Given the description of an element on the screen output the (x, y) to click on. 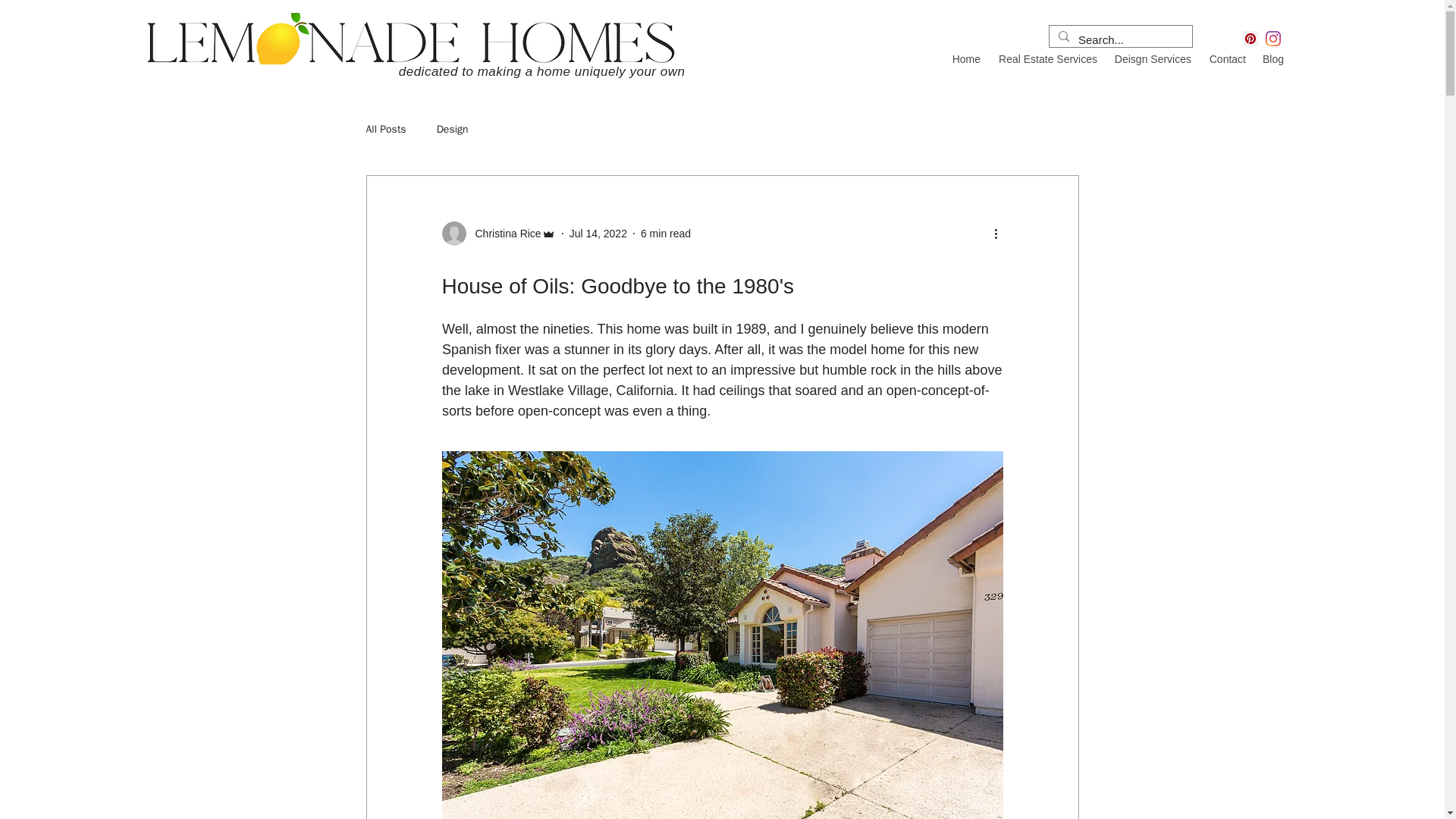
Jul 14, 2022 (598, 233)
Christina Rice (502, 233)
Christina Rice (497, 233)
All Posts (385, 129)
6 min read (665, 233)
Contact (1225, 58)
Blog (1272, 58)
Design (452, 129)
Real Estate Services (1046, 58)
Home (965, 58)
Deisgn Services (1151, 58)
